Given the description of an element on the screen output the (x, y) to click on. 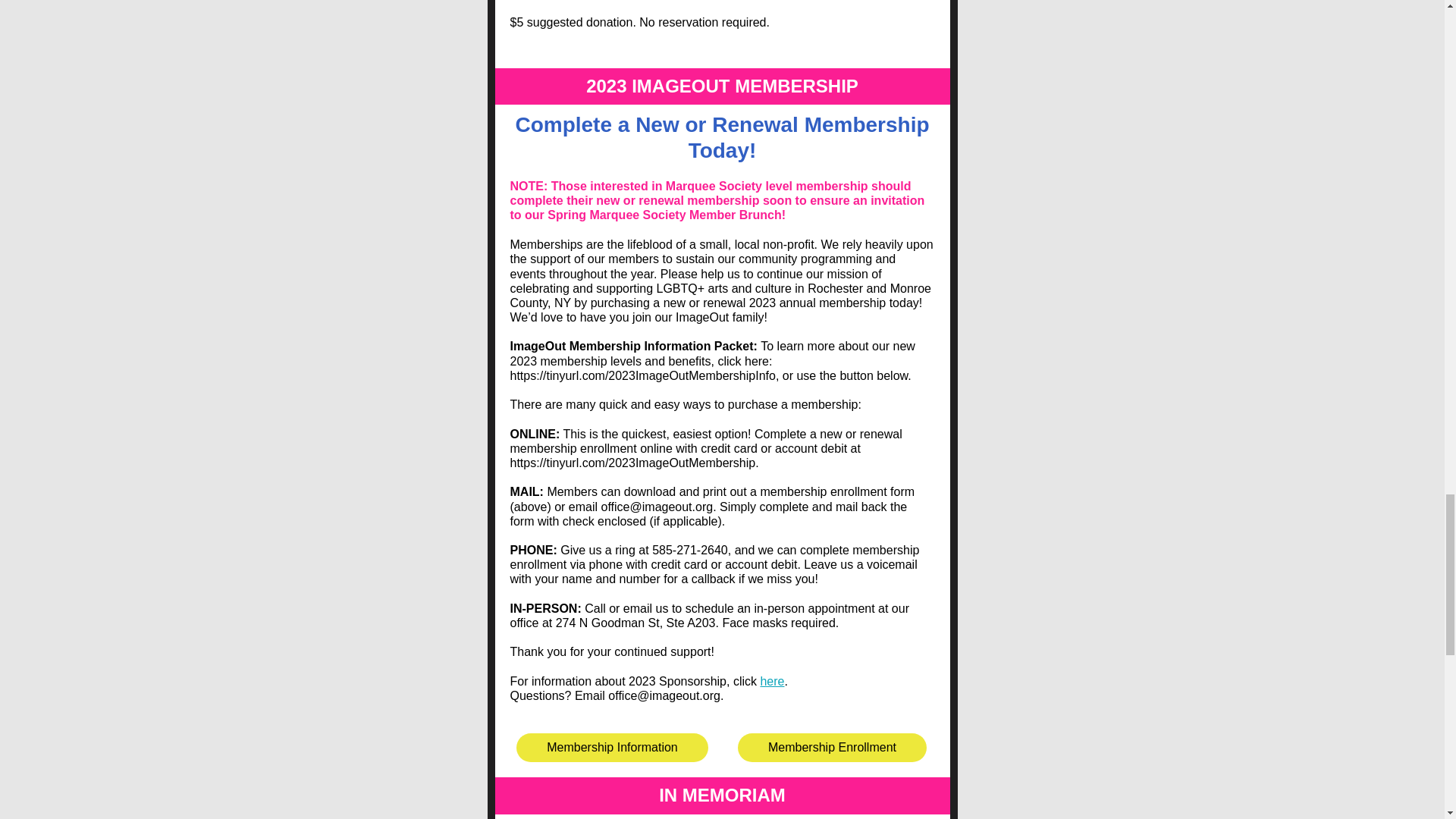
Membership Enrollment (832, 747)
Membership Information (612, 747)
here (772, 680)
